Given the description of an element on the screen output the (x, y) to click on. 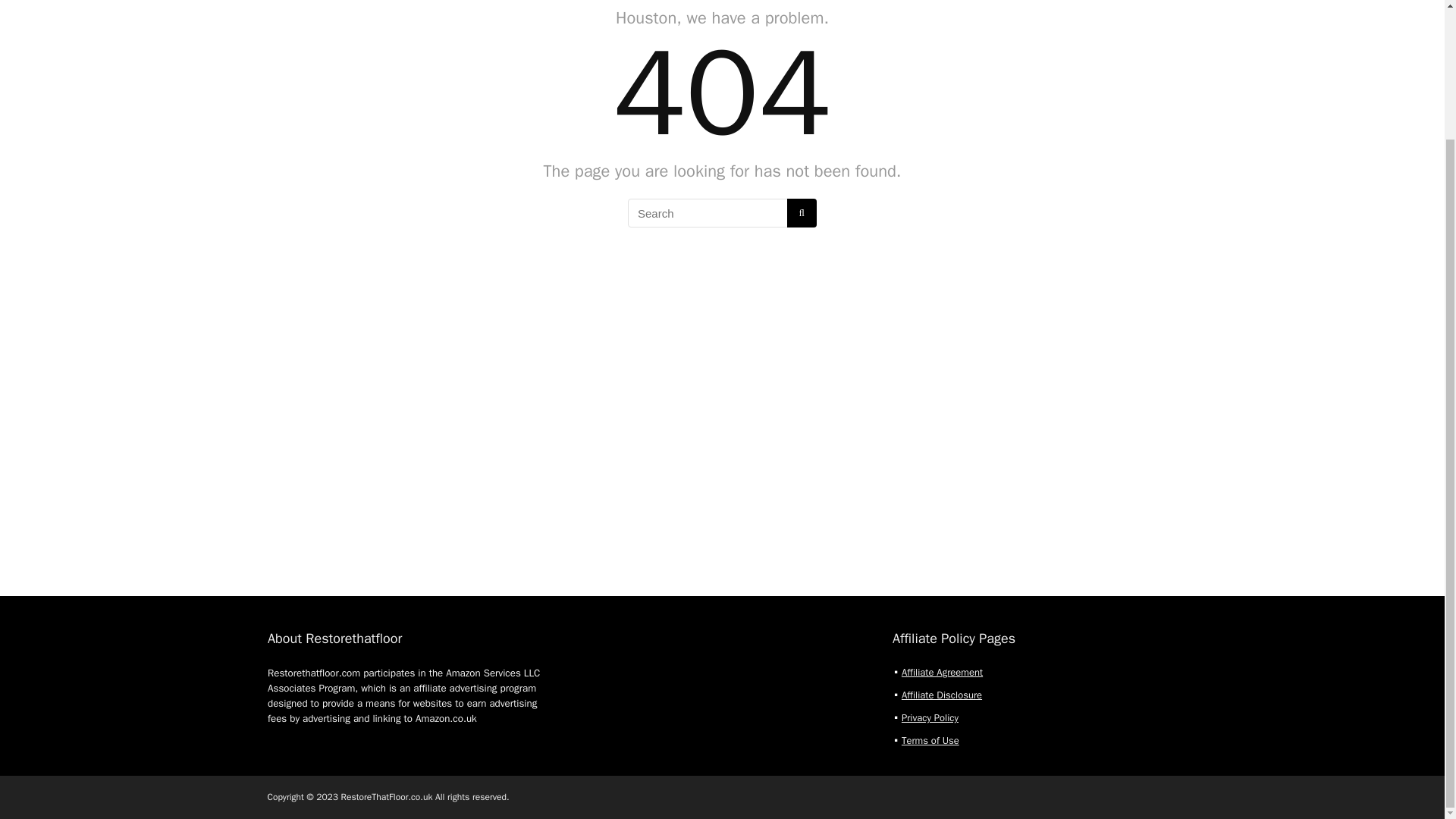
Terms of Use (930, 739)
Affiliate Disclosure (941, 694)
Privacy Policy (929, 717)
Affiliate Agreement (941, 671)
